Given the description of an element on the screen output the (x, y) to click on. 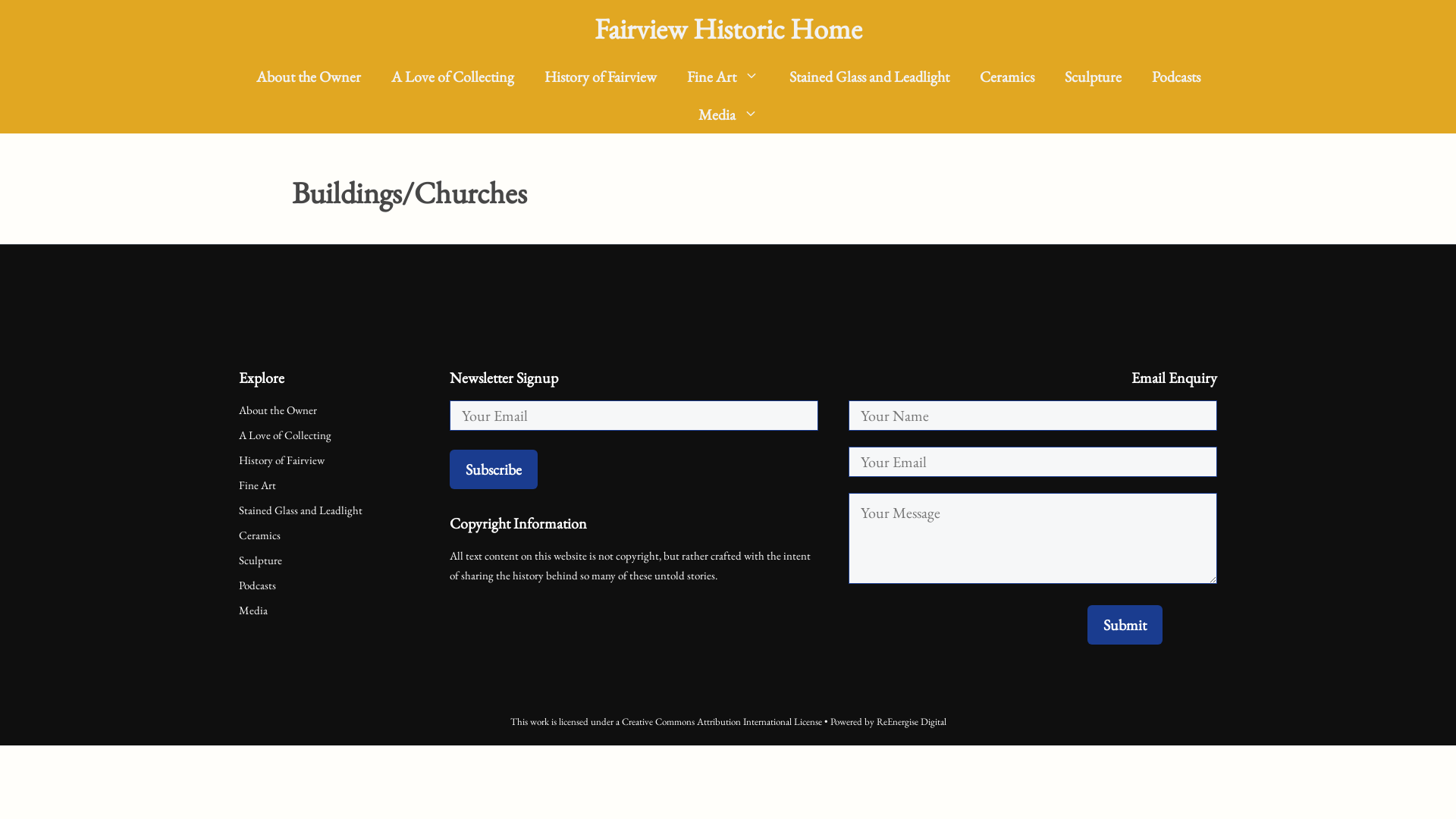
Ceramics Element type: text (1006, 76)
A Love of Collecting Element type: text (284, 434)
Sculpture Element type: text (1092, 76)
Sculpture Element type: text (260, 559)
Fine Art Element type: text (722, 76)
History of Fairview Element type: text (600, 76)
Media Element type: text (727, 114)
History of Fairview Element type: text (281, 459)
Stained Glass and Leadlight Element type: text (868, 76)
About the Owner Element type: text (277, 409)
ReEnergise Digital Element type: text (911, 721)
Podcasts Element type: text (257, 584)
Media Element type: text (252, 609)
Ceramics Element type: text (259, 534)
About the Owner Element type: text (308, 76)
Fine Art Element type: text (257, 484)
Submit Element type: text (1124, 624)
Podcasts Element type: text (1174, 76)
Fairview Historic Home Element type: text (728, 28)
A Love of Collecting Element type: text (452, 76)
Stained Glass and Leadlight Element type: text (300, 509)
Subscribe Element type: text (493, 469)
